Given the description of an element on the screen output the (x, y) to click on. 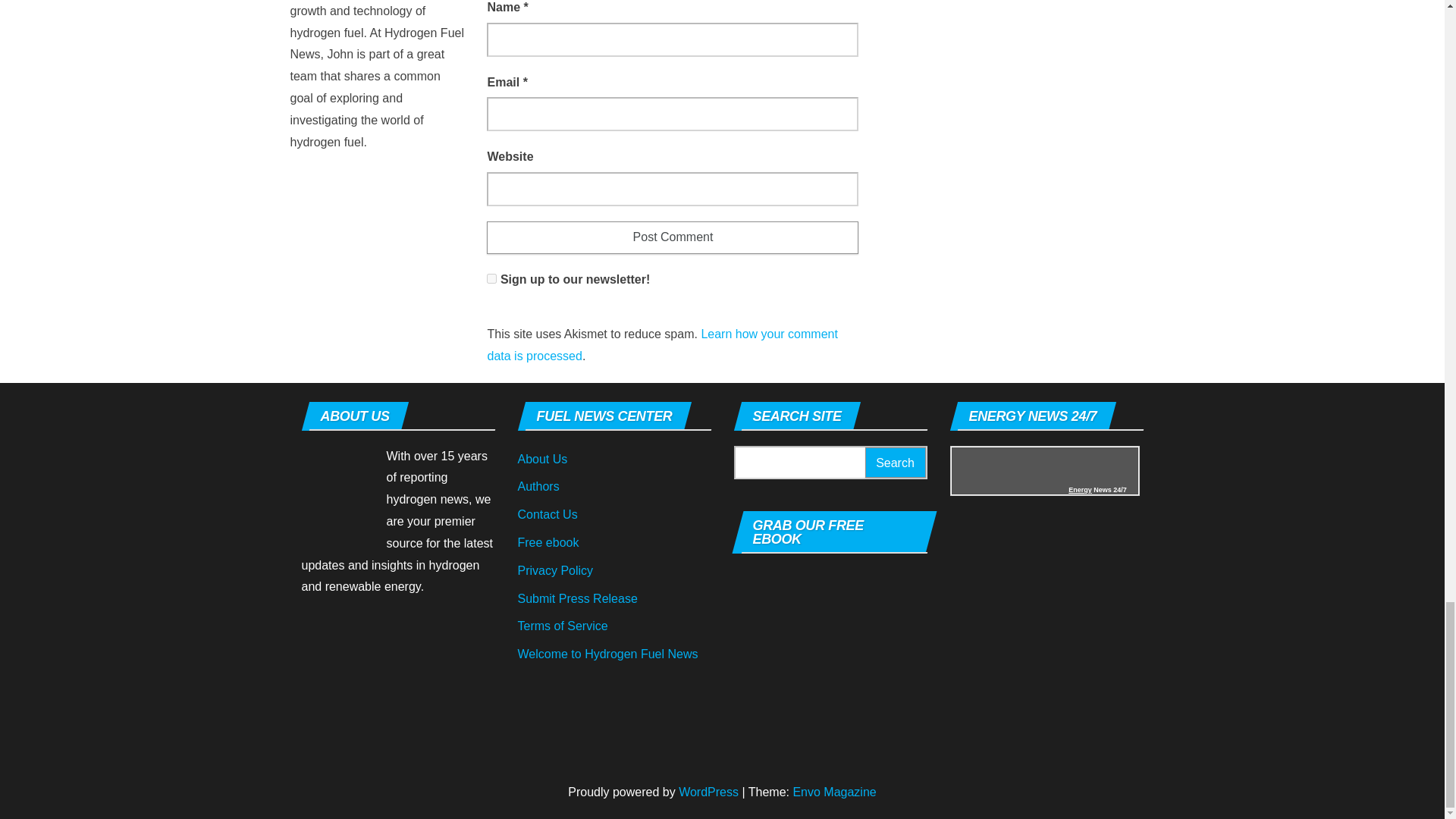
Search (894, 462)
1 (491, 278)
Post Comment (672, 237)
